Given the description of an element on the screen output the (x, y) to click on. 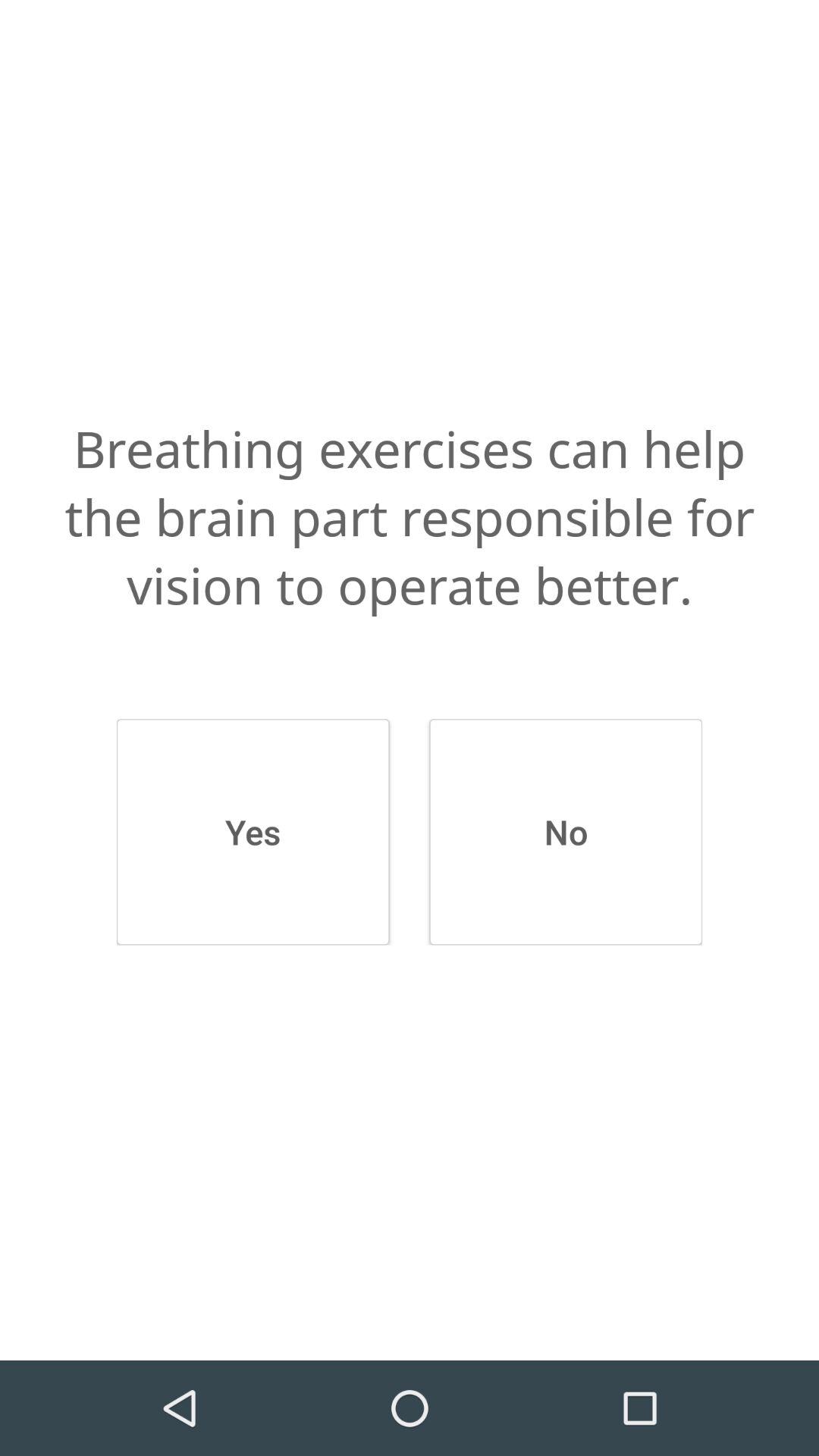
flip until no icon (565, 831)
